Given the description of an element on the screen output the (x, y) to click on. 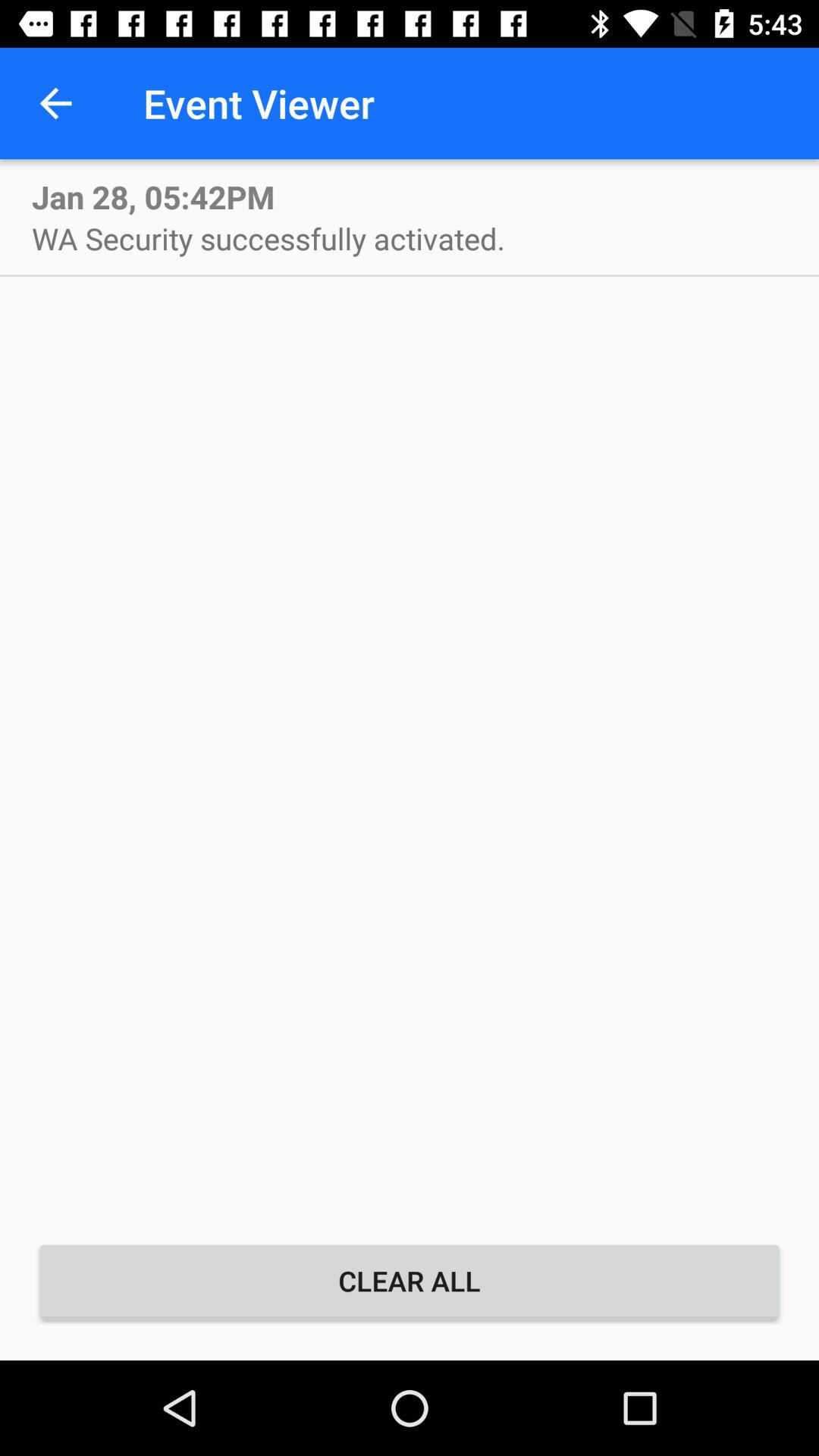
swipe to the wa security successfully (268, 238)
